Given the description of an element on the screen output the (x, y) to click on. 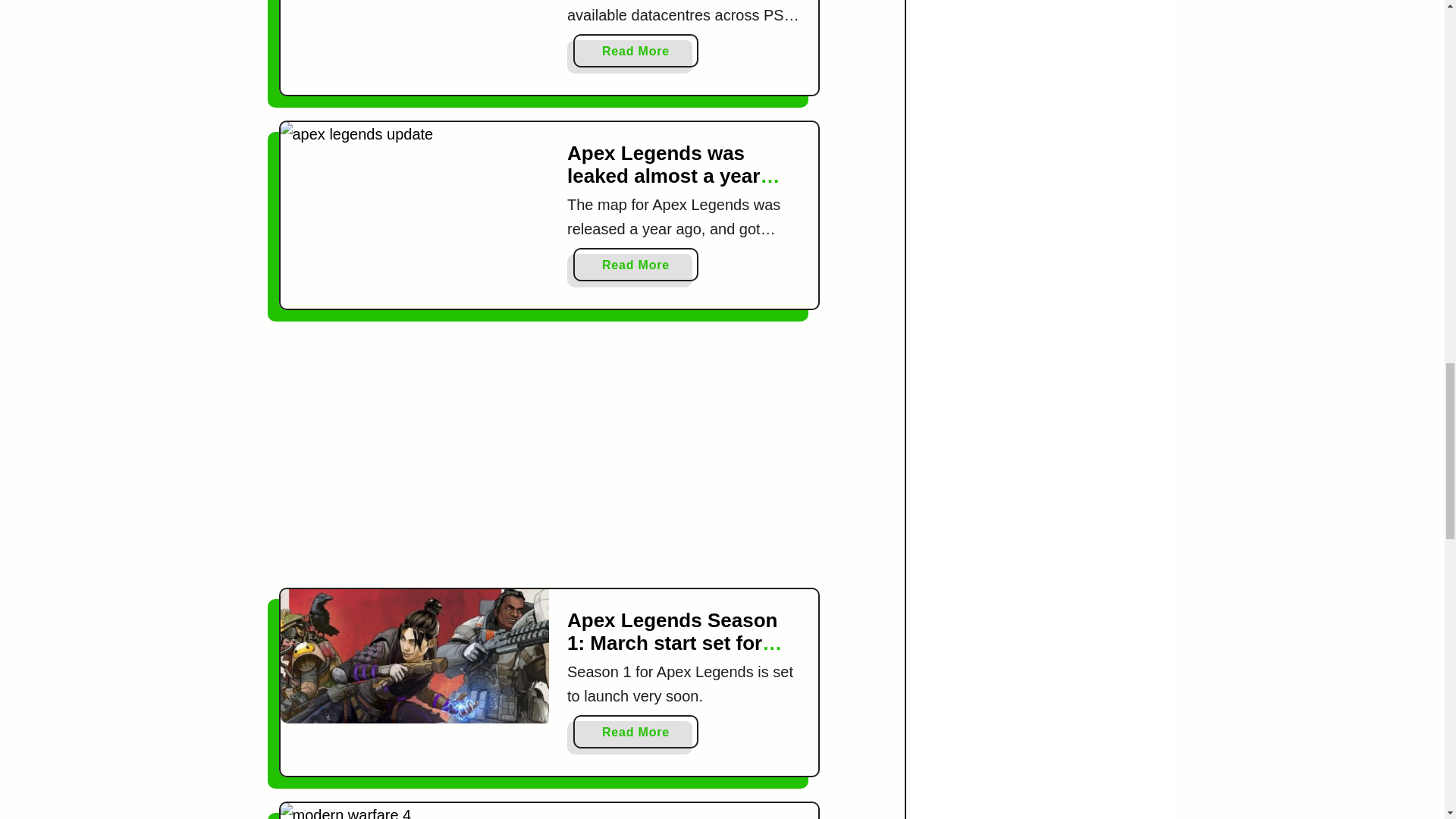
Modern Warfare Remastered is now free on PS4 (415, 810)
Apex Legends server lag, and how to fix it (635, 50)
